Given the description of an element on the screen output the (x, y) to click on. 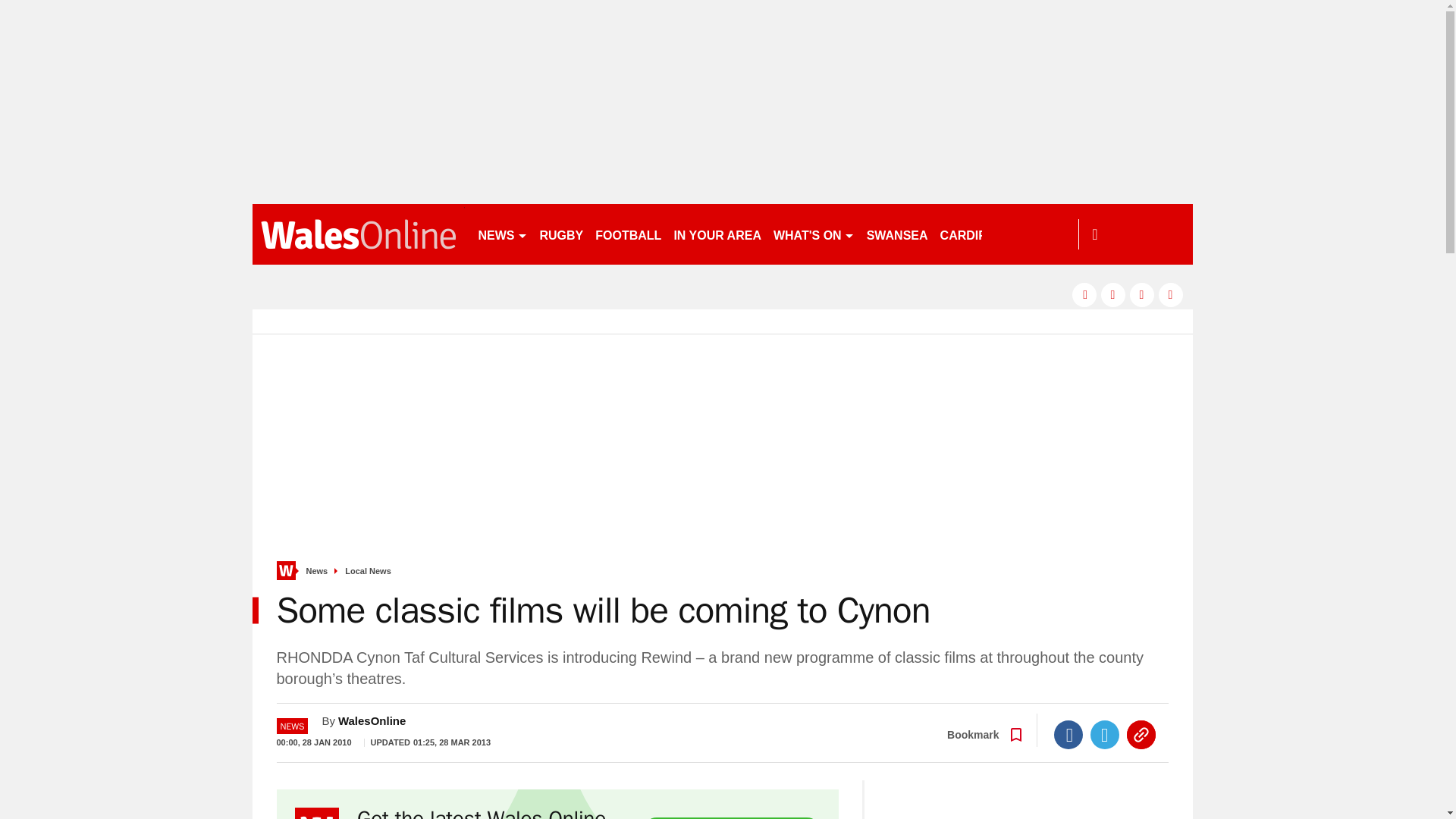
RUGBY (561, 233)
twitter (1112, 294)
WHAT'S ON (813, 233)
IN YOUR AREA (716, 233)
Twitter (1104, 734)
pinterest (1141, 294)
facebook (1083, 294)
Facebook (1068, 734)
FOOTBALL (627, 233)
walesonline (357, 233)
instagram (1170, 294)
SWANSEA (897, 233)
NEWS (501, 233)
